Given the description of an element on the screen output the (x, y) to click on. 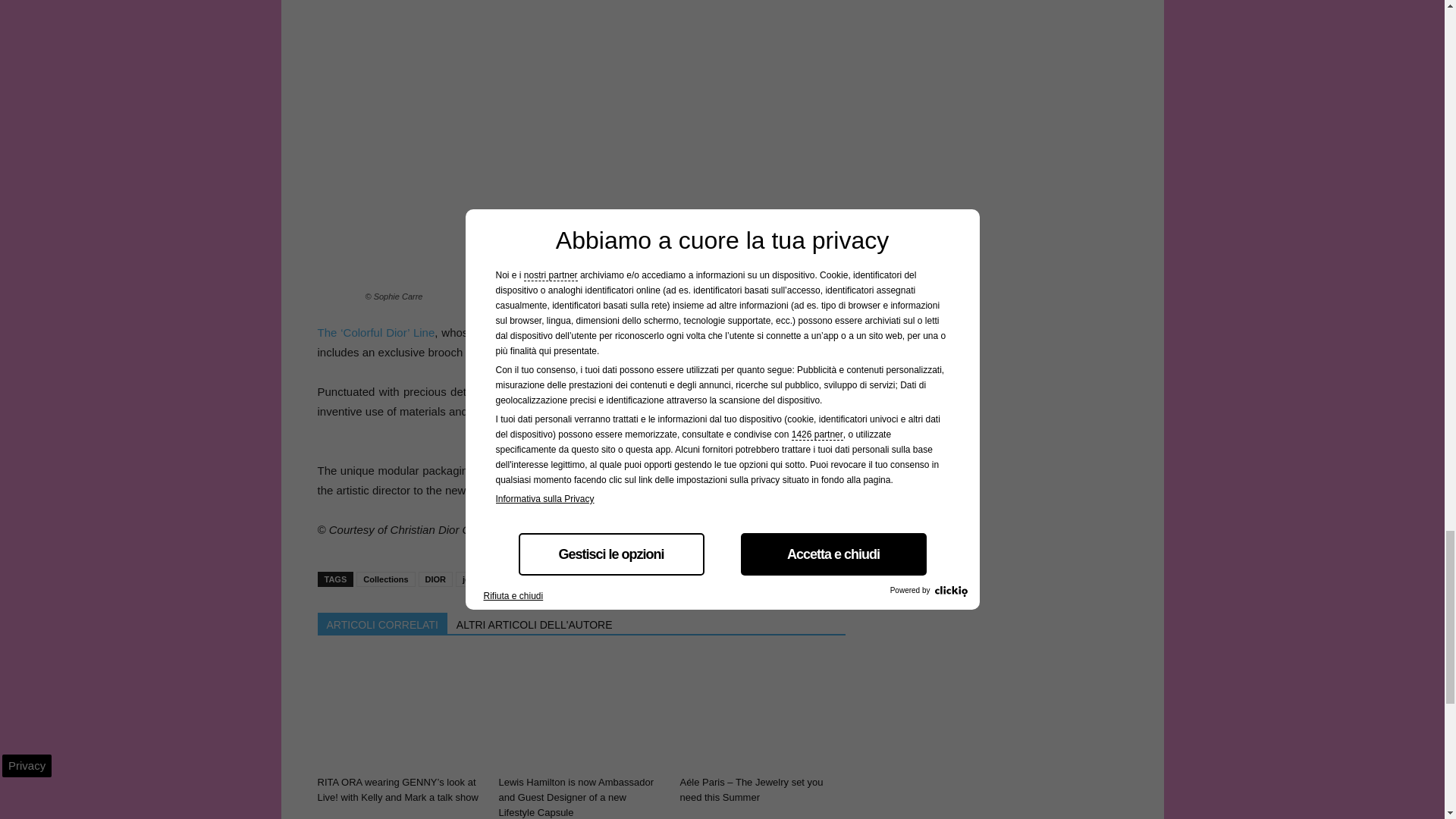
DIOR (435, 579)
Collections (385, 579)
SS19 (581, 579)
jewellery (479, 579)
Menswear (535, 579)
